Given the description of an element on the screen output the (x, y) to click on. 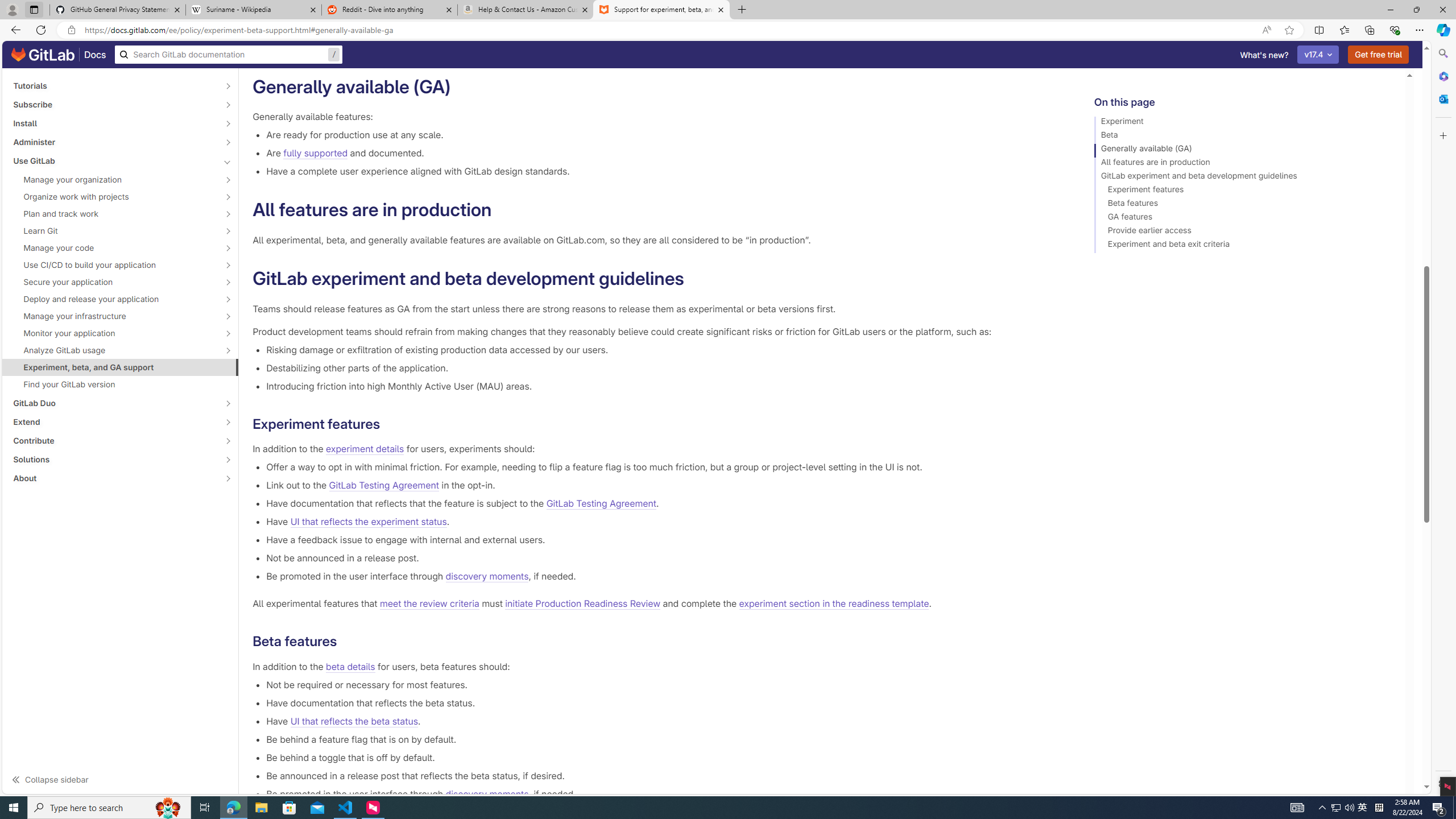
Beta (1244, 136)
Generally available (GA) (1244, 150)
Use CI/CD to build your application (113, 264)
experiment details (365, 449)
Manage your organization (113, 179)
Use GitLab (113, 160)
Experiment features (1244, 191)
Link out to the GitLab Testing Agreement in the opt-in. (662, 485)
Manage your infrastructure (113, 316)
Contribute (113, 440)
Are ready for production use at any scale. (662, 134)
